Given the description of an element on the screen output the (x, y) to click on. 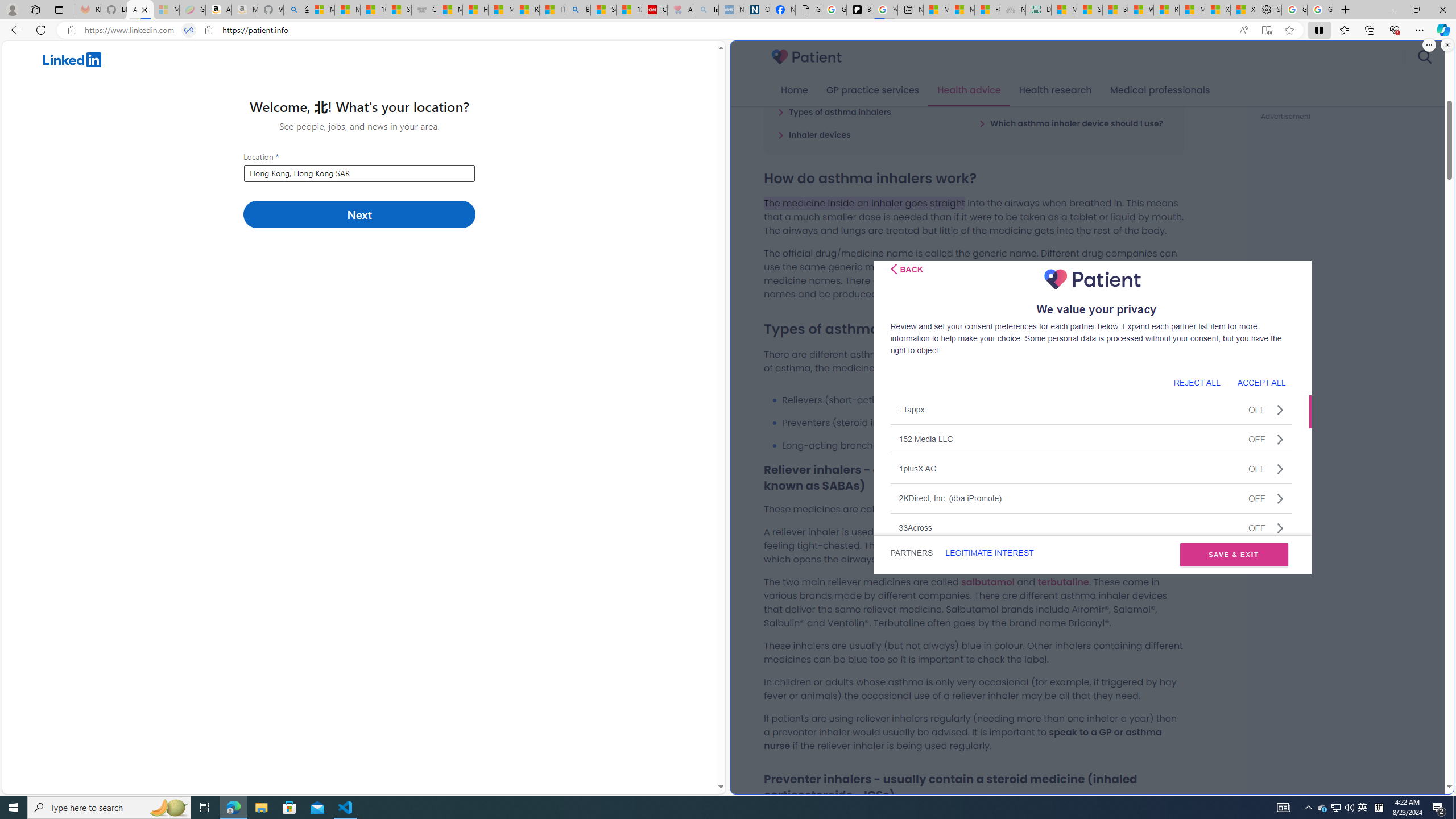
View site information (208, 29)
Medical professionals (1160, 90)
Minimize (1390, 9)
salbutamol (987, 581)
Read aloud this page (Ctrl+Shift+U) (1243, 29)
Enter Immersive Reader (F9) (1266, 29)
Browser essentials (1394, 29)
Close (1442, 9)
How do asthma inhalers work? (844, 88)
More options. (1428, 45)
